Given the description of an element on the screen output the (x, y) to click on. 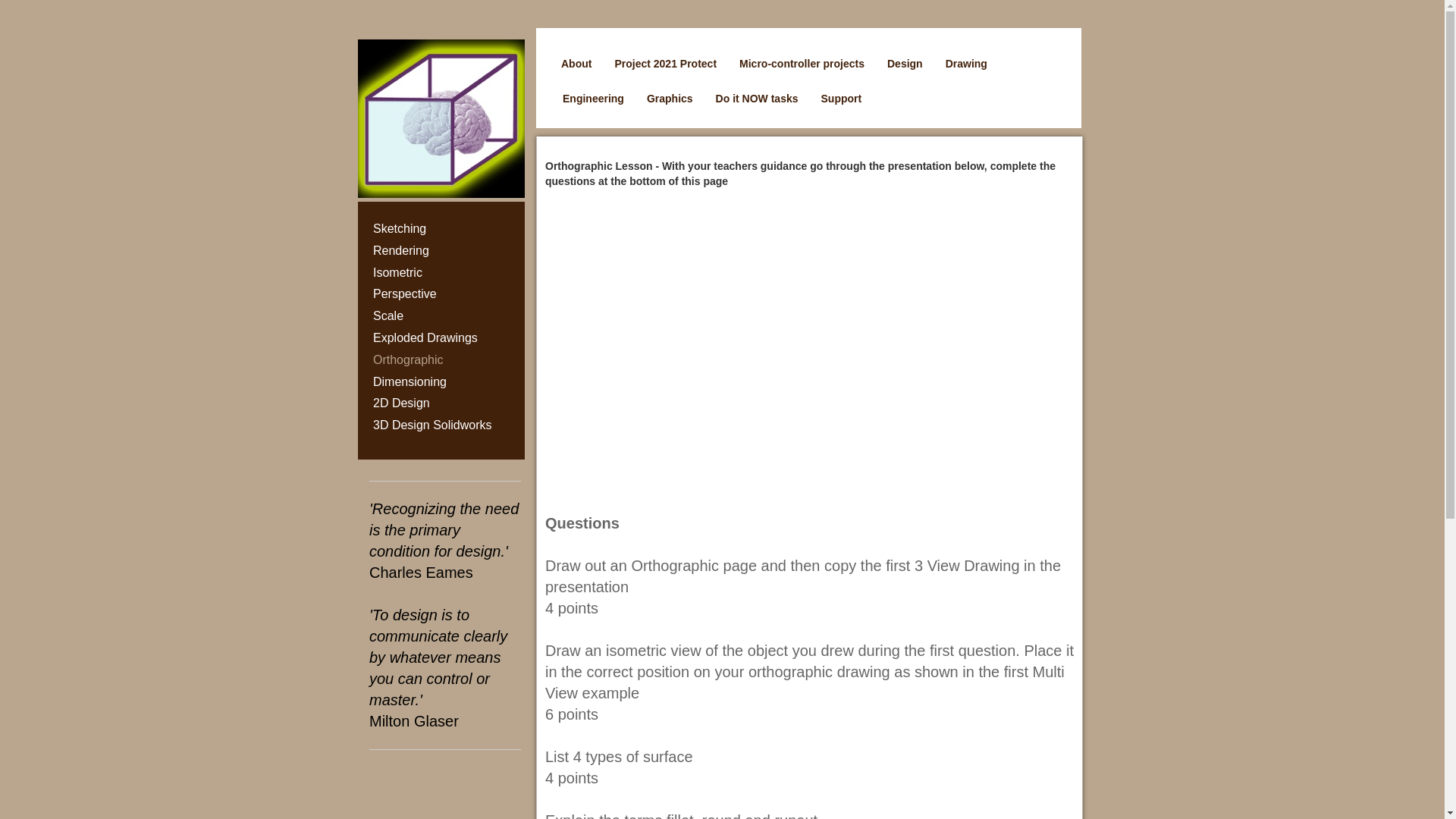
Graphics (669, 98)
Perspective (448, 294)
3D Design Solidworks (448, 425)
Sketching (448, 229)
About (575, 63)
Design (904, 63)
Scale (448, 316)
Dimensioning (448, 382)
Project 2021 Protect (665, 63)
Drawing (965, 63)
